Given the description of an element on the screen output the (x, y) to click on. 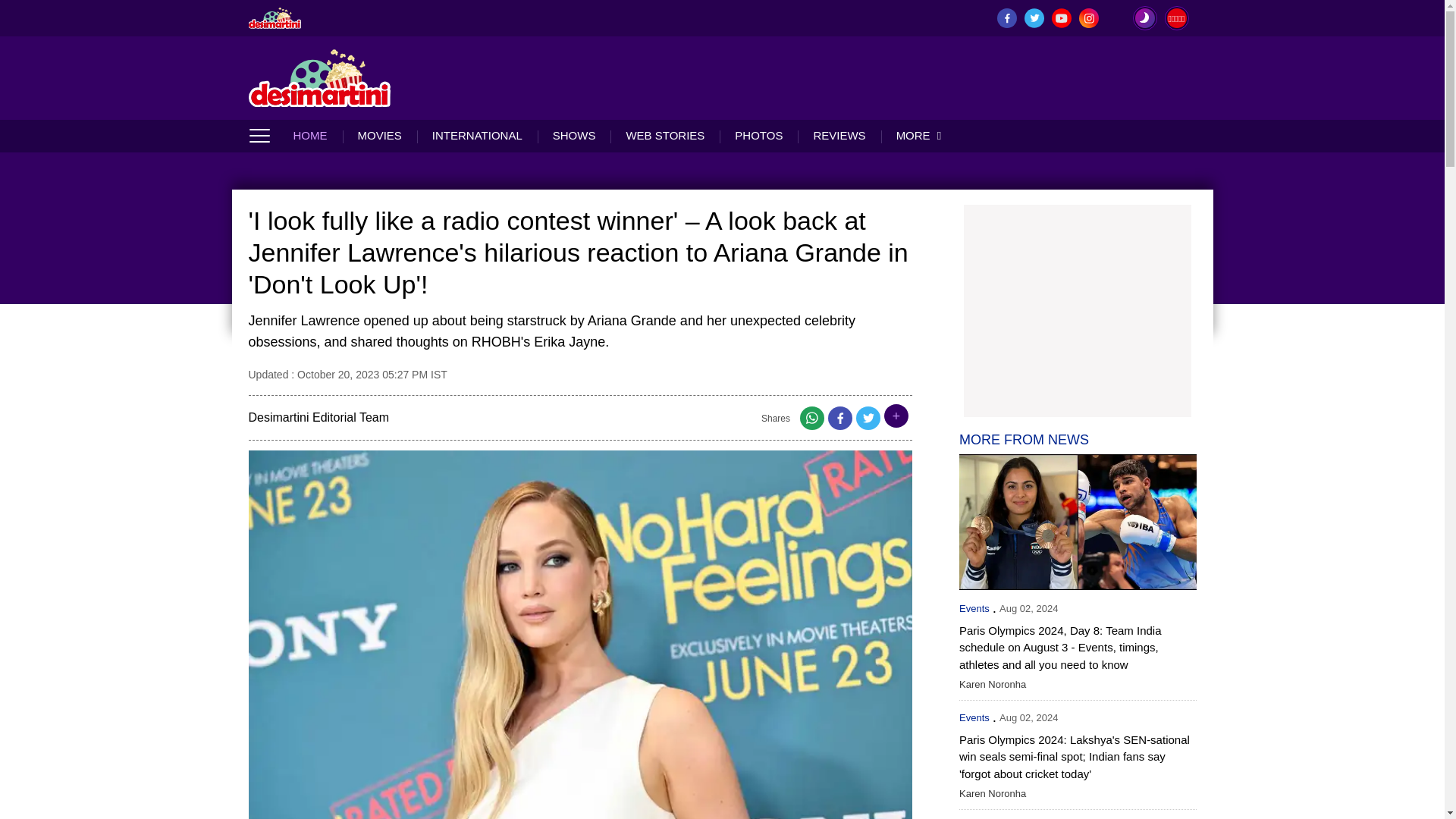
REVIEWS (838, 135)
INTERNATIONAL (476, 135)
HOME (317, 135)
SHOWS (574, 135)
desimartini (319, 77)
desimartini (274, 17)
Facebook (839, 421)
MOVIES (379, 135)
PHOTOS (758, 135)
WEB STORIES (664, 135)
